Given the description of an element on the screen output the (x, y) to click on. 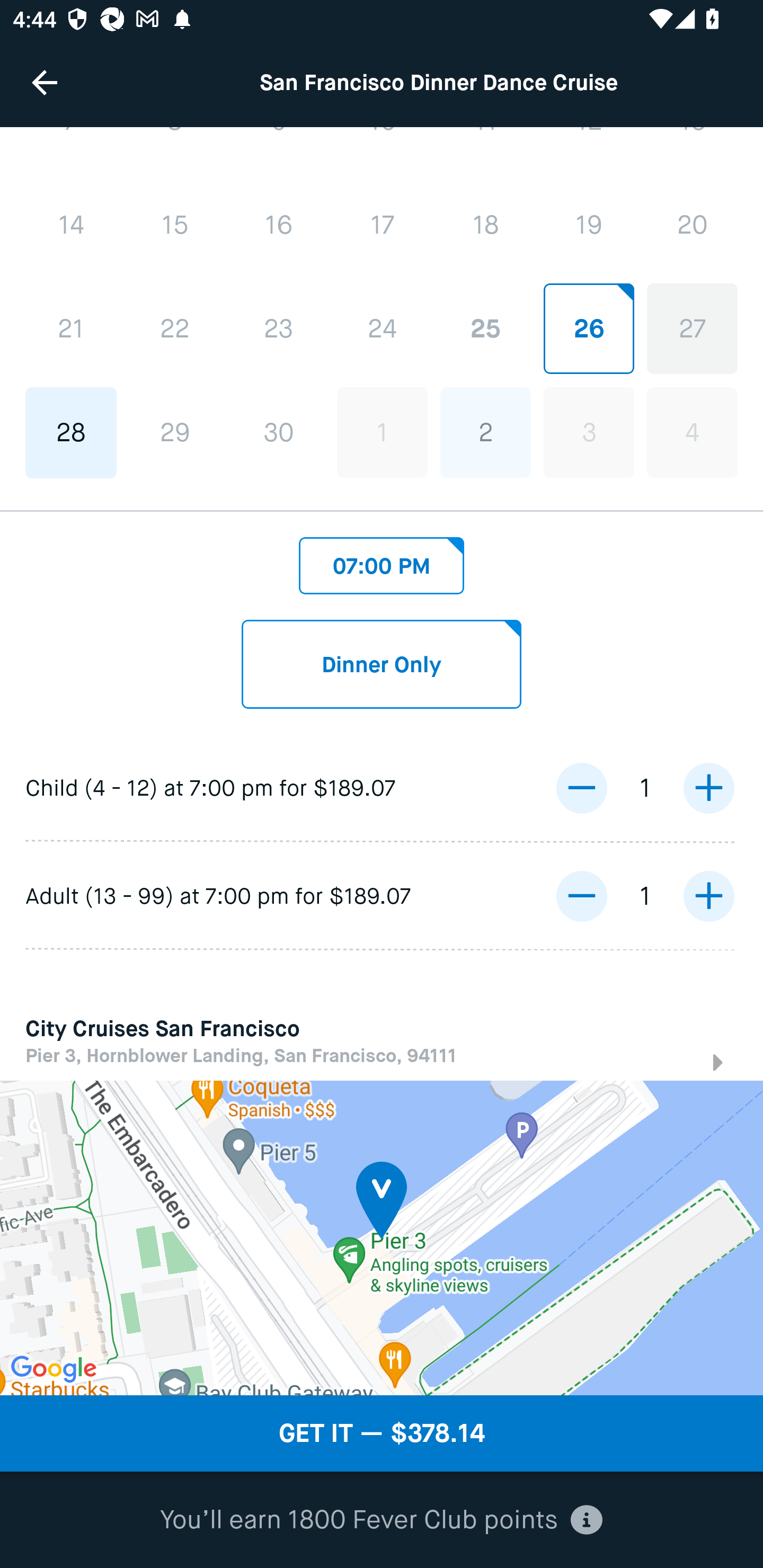
Navigate up (44, 82)
14 (70, 225)
15 (174, 225)
16 (278, 225)
17 (382, 224)
18 (485, 224)
19 (588, 224)
20 (692, 224)
21 (70, 328)
22 (174, 328)
23 (278, 328)
24 (382, 328)
25 (485, 328)
26 (588, 328)
27 (692, 328)
28 (70, 432)
29 (174, 432)
30 (278, 432)
1 (382, 432)
2 (485, 432)
3 (588, 432)
4 (692, 432)
07:00 PM (381, 560)
Dinner Only (381, 663)
decrease (581, 787)
increase (708, 787)
decrease (581, 895)
increase (708, 895)
Google Map Map Marker (381, 1237)
GET IT — $378.14 (381, 1433)
You’ll earn 1800 Fever Club points (381, 1519)
